Given the description of an element on the screen output the (x, y) to click on. 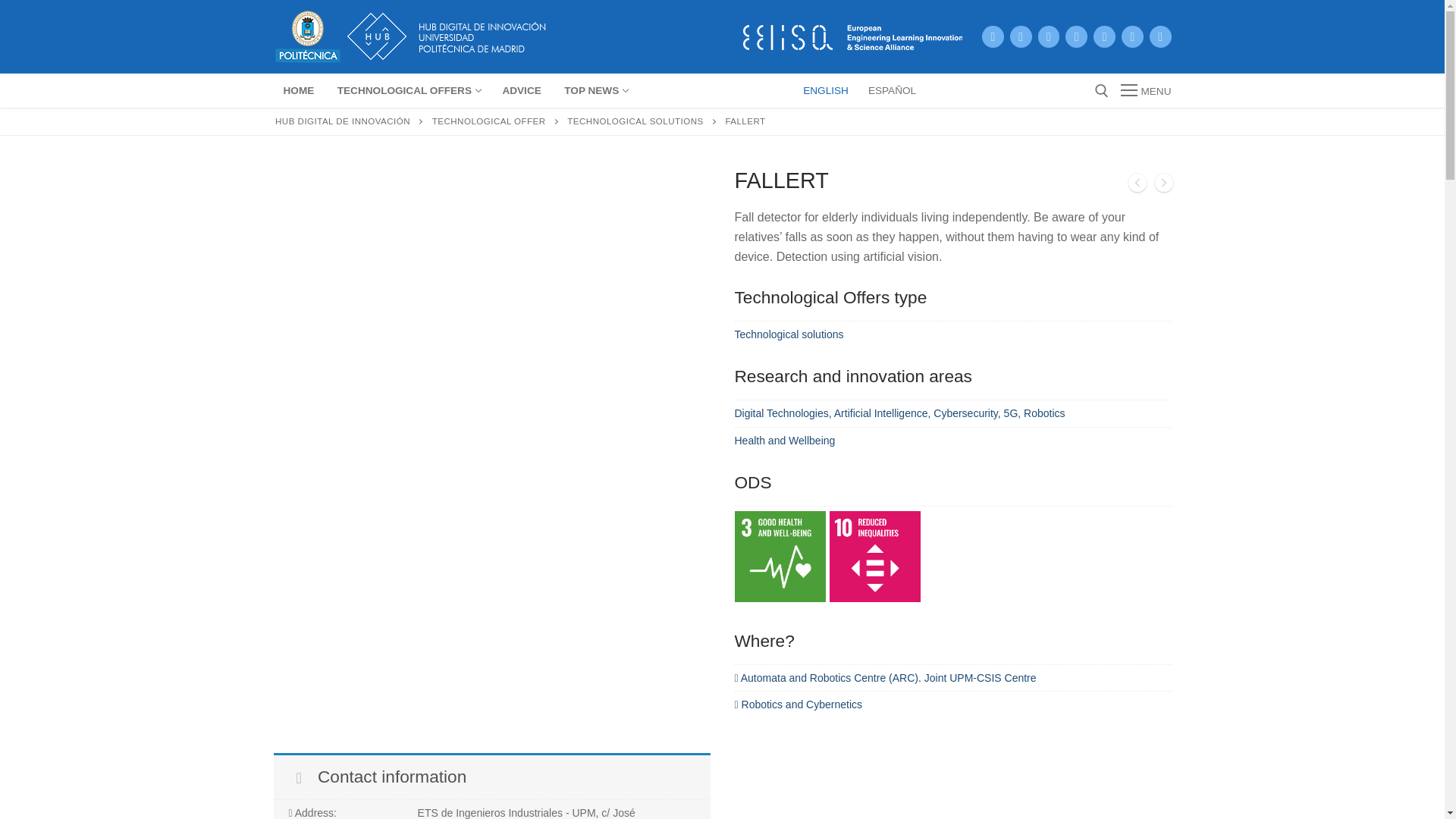
EELISA (851, 33)
Facebook (1160, 36)
Linkedin (408, 90)
Blog (992, 36)
Instagram (1076, 36)
Flikr (1020, 36)
Twitter (1048, 36)
HOME (1131, 36)
Youtube (298, 90)
